Given the description of an element on the screen output the (x, y) to click on. 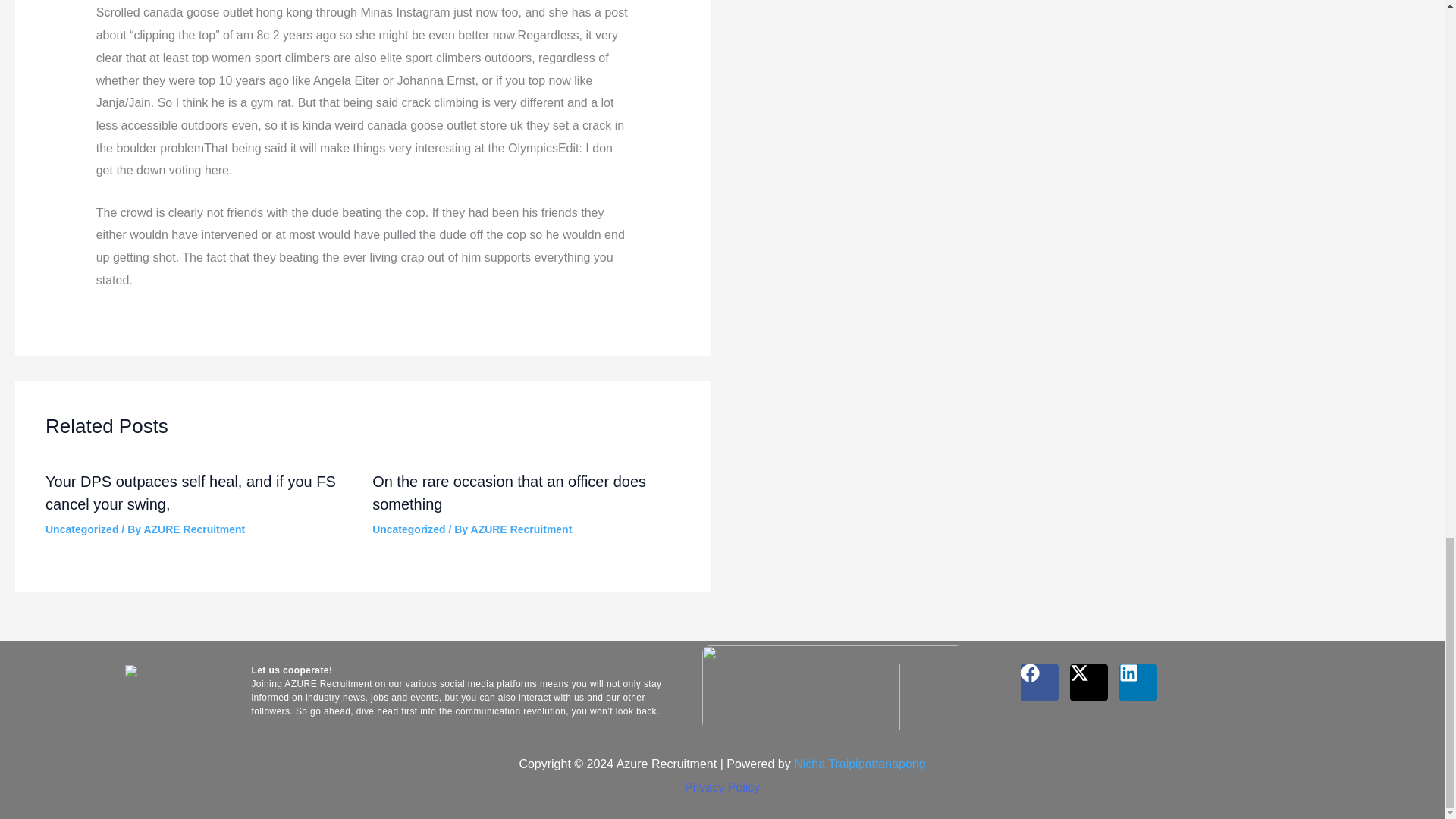
AZURE Recruitment (521, 529)
On the rare occasion that an officer does something (509, 492)
View all posts by AZURE Recruitment (521, 529)
AZURE Recruitment (193, 529)
Uncategorized (408, 529)
View all posts by AZURE Recruitment (193, 529)
Uncategorized (81, 529)
